Given the description of an element on the screen output the (x, y) to click on. 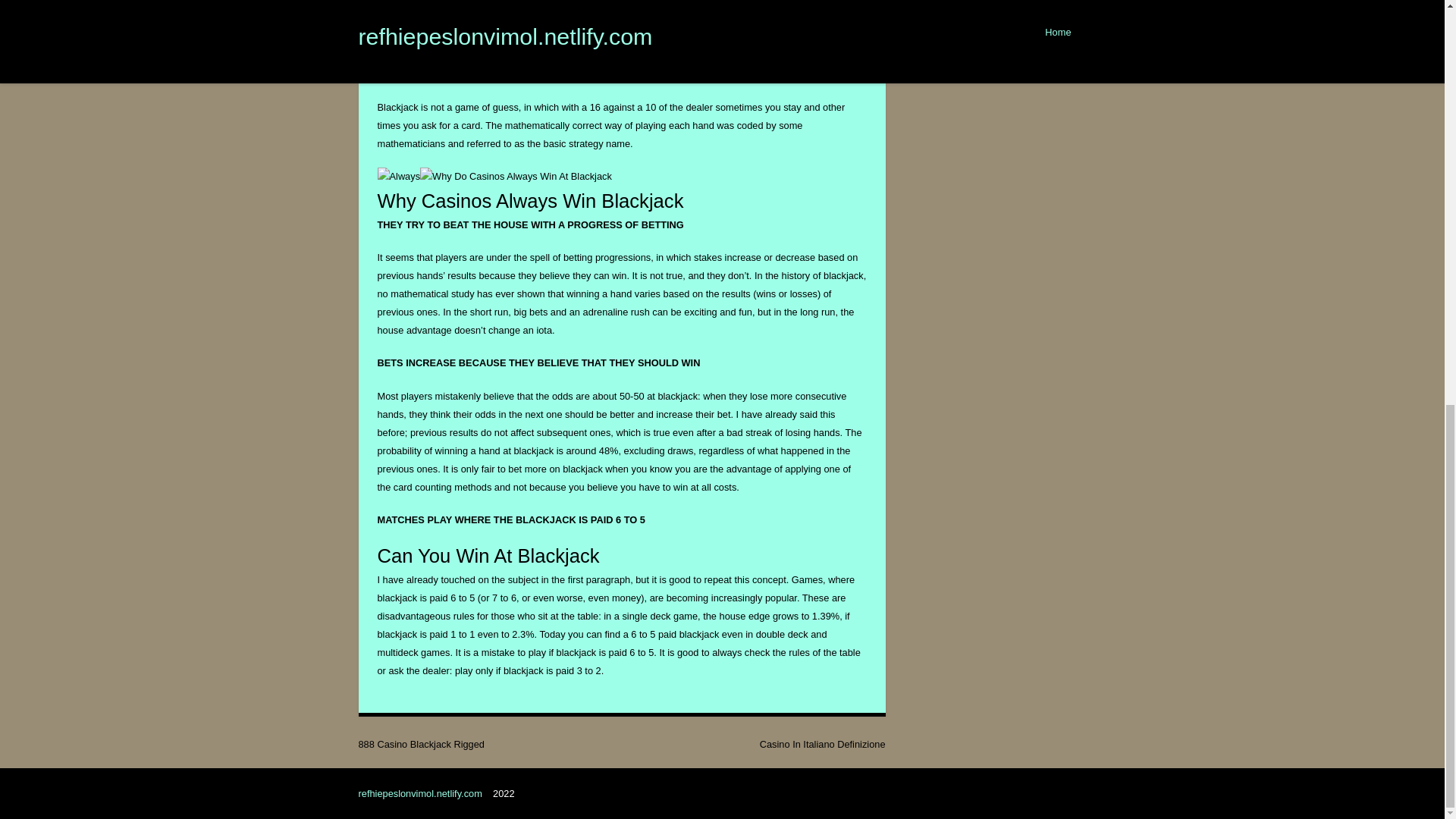
refhiepeslonvimol.netlify.com  (421, 793)
888 Casino Blackjack Rigged (420, 744)
Casino In Italiano Definizione (822, 744)
Why Do Casinos Always Win At Blackjack (461, 29)
Why Do Casinos Always Win At Blackjack (515, 176)
Always (398, 176)
